Given the description of an element on the screen output the (x, y) to click on. 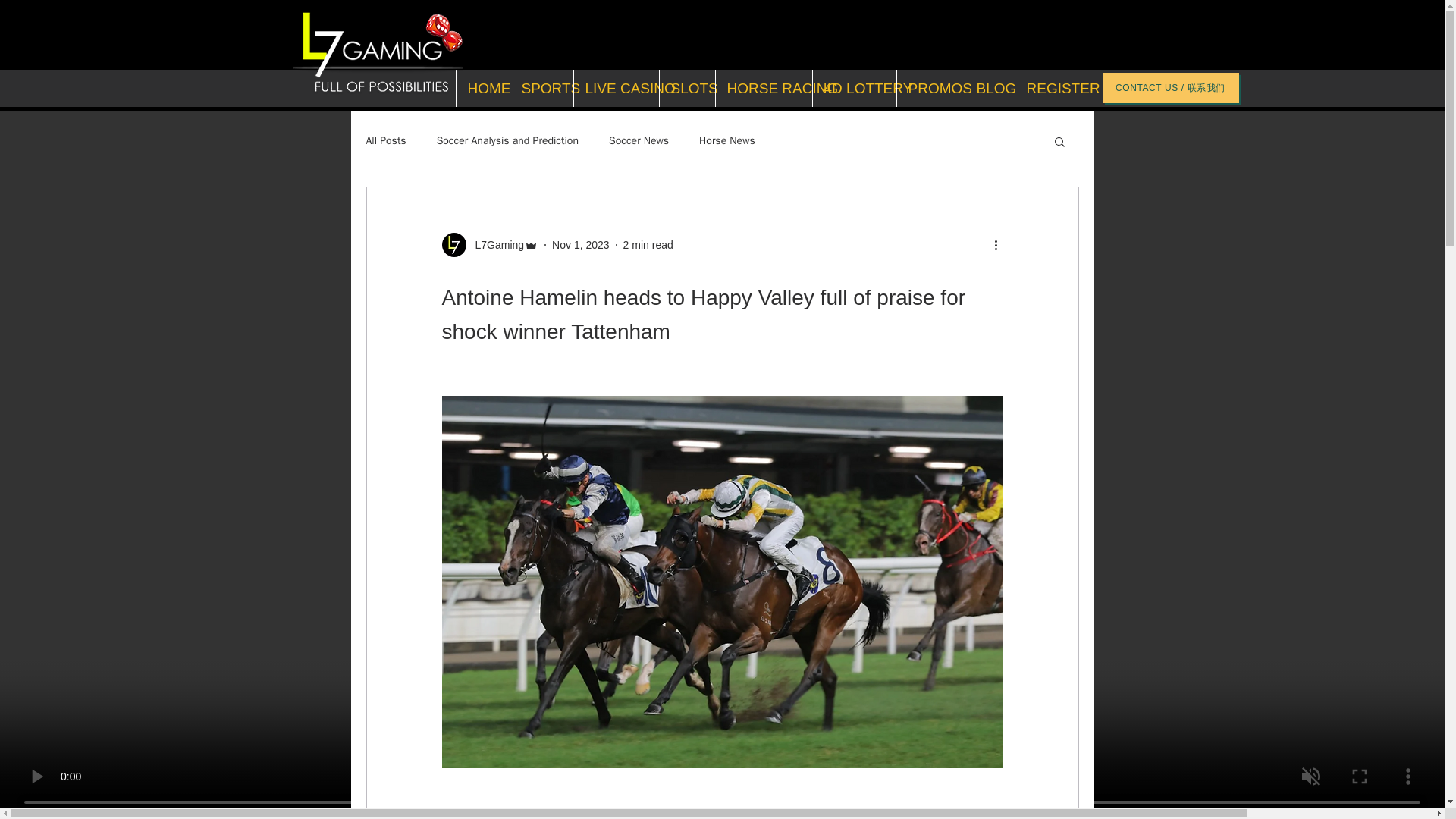
LIVE CASINO (616, 88)
4D LOTTERY (852, 88)
All Posts (385, 141)
2 min read (647, 244)
L7Gaming (489, 244)
L7Gaming (494, 244)
HOME (481, 88)
SPORTS (541, 88)
PROMOS (929, 88)
Horse News (726, 141)
